Given the description of an element on the screen output the (x, y) to click on. 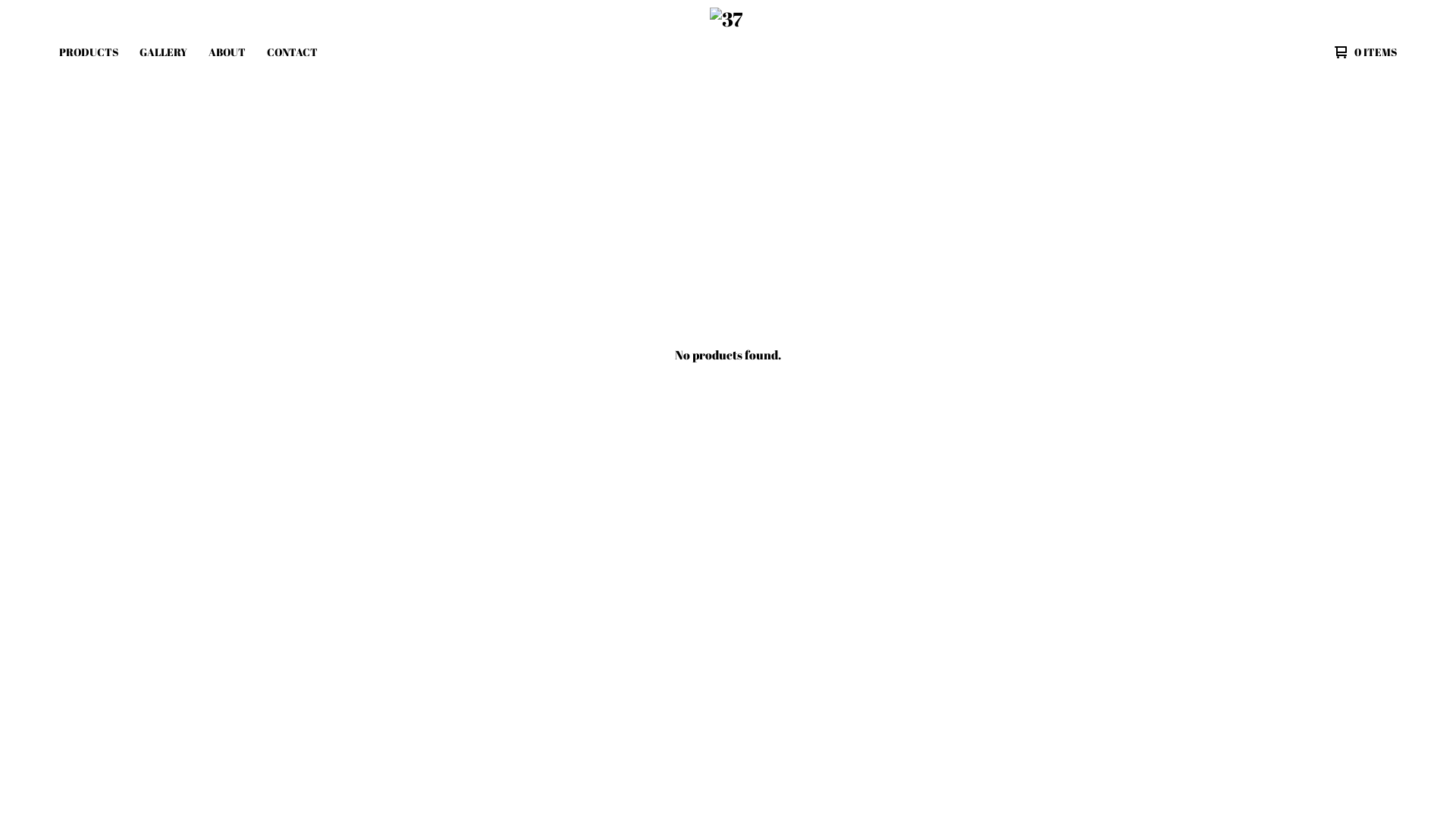
Gallery Element type: text (379, 701)
t-shirts Element type: text (149, 701)
PRODUCTS Element type: text (88, 52)
ABOUT Element type: text (379, 728)
ABOUT Element type: text (226, 52)
PRODUCTS Element type: text (87, 662)
CONTACT Element type: text (292, 52)
Contact Element type: text (379, 756)
37 Element type: hover (725, 52)
GALLERY Element type: text (162, 52)
0 ITEMS Element type: text (1361, 52)
Instagram Element type: text (609, 701)
Powered by Big Cartel Element type: text (1370, 665)
